Given the description of an element on the screen output the (x, y) to click on. 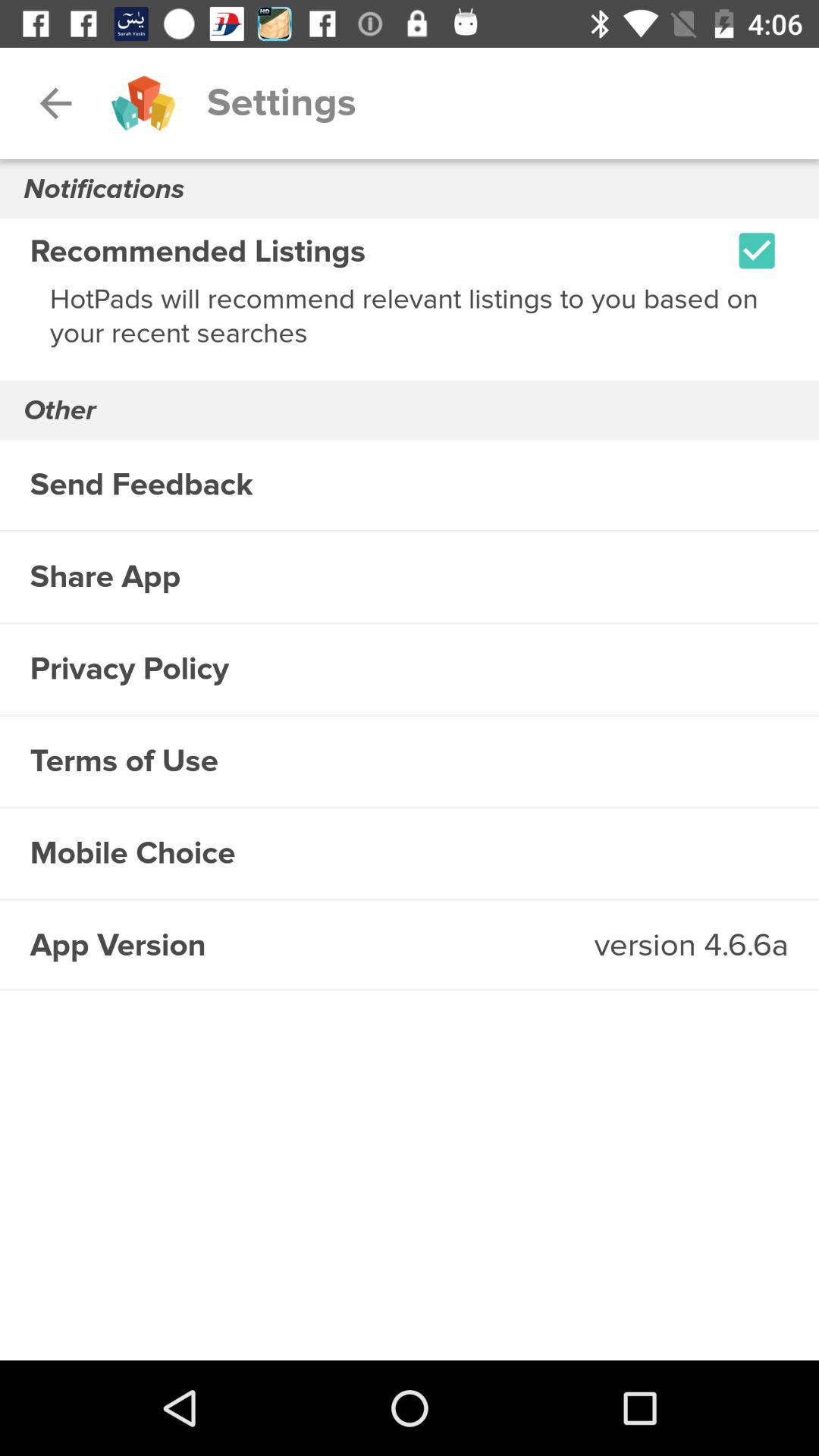
choose mobile choice icon (409, 853)
